Given the description of an element on the screen output the (x, y) to click on. 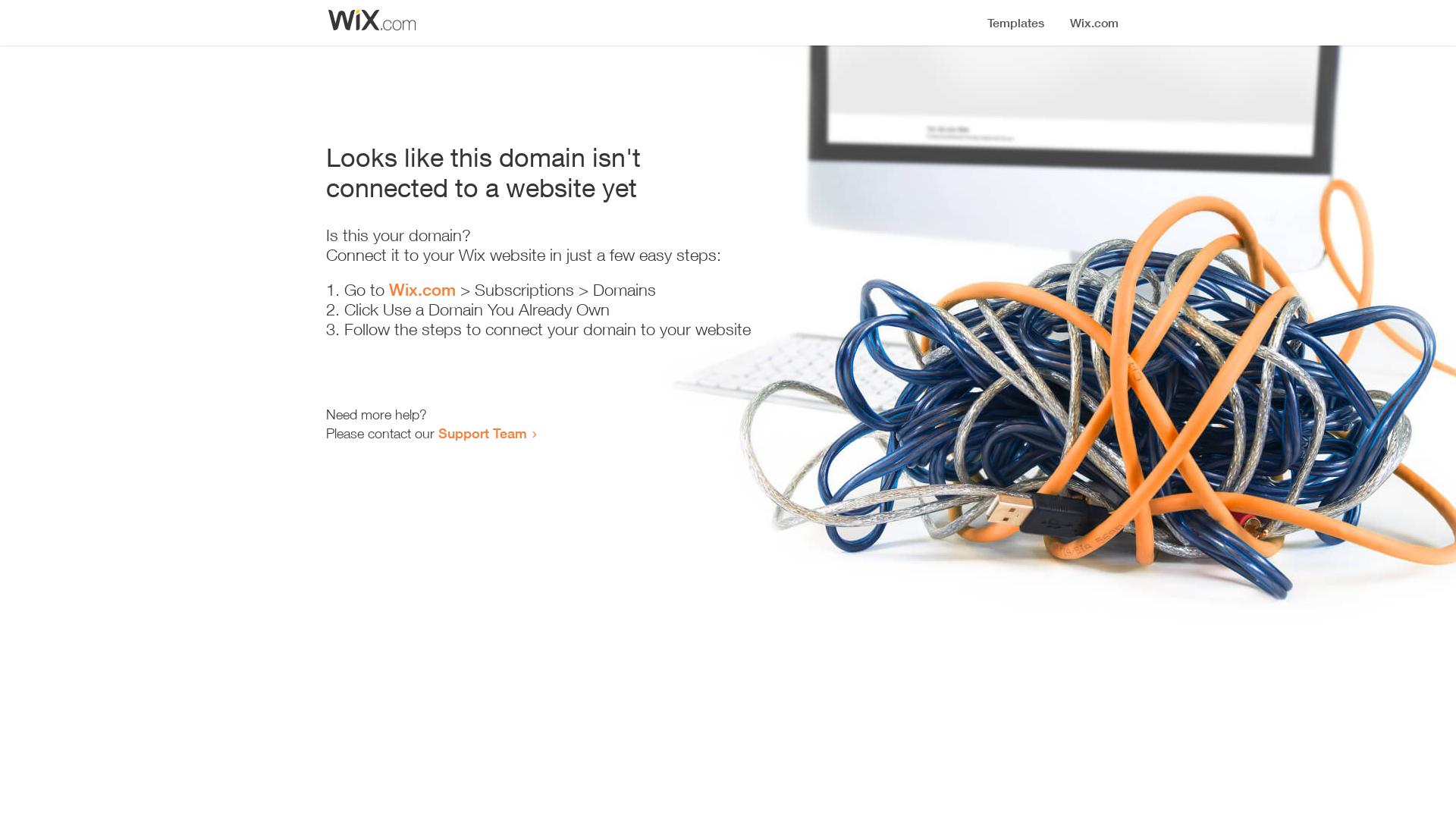
Support Team Element type: text (482, 432)
Wix.com Element type: text (422, 289)
